Given the description of an element on the screen output the (x, y) to click on. 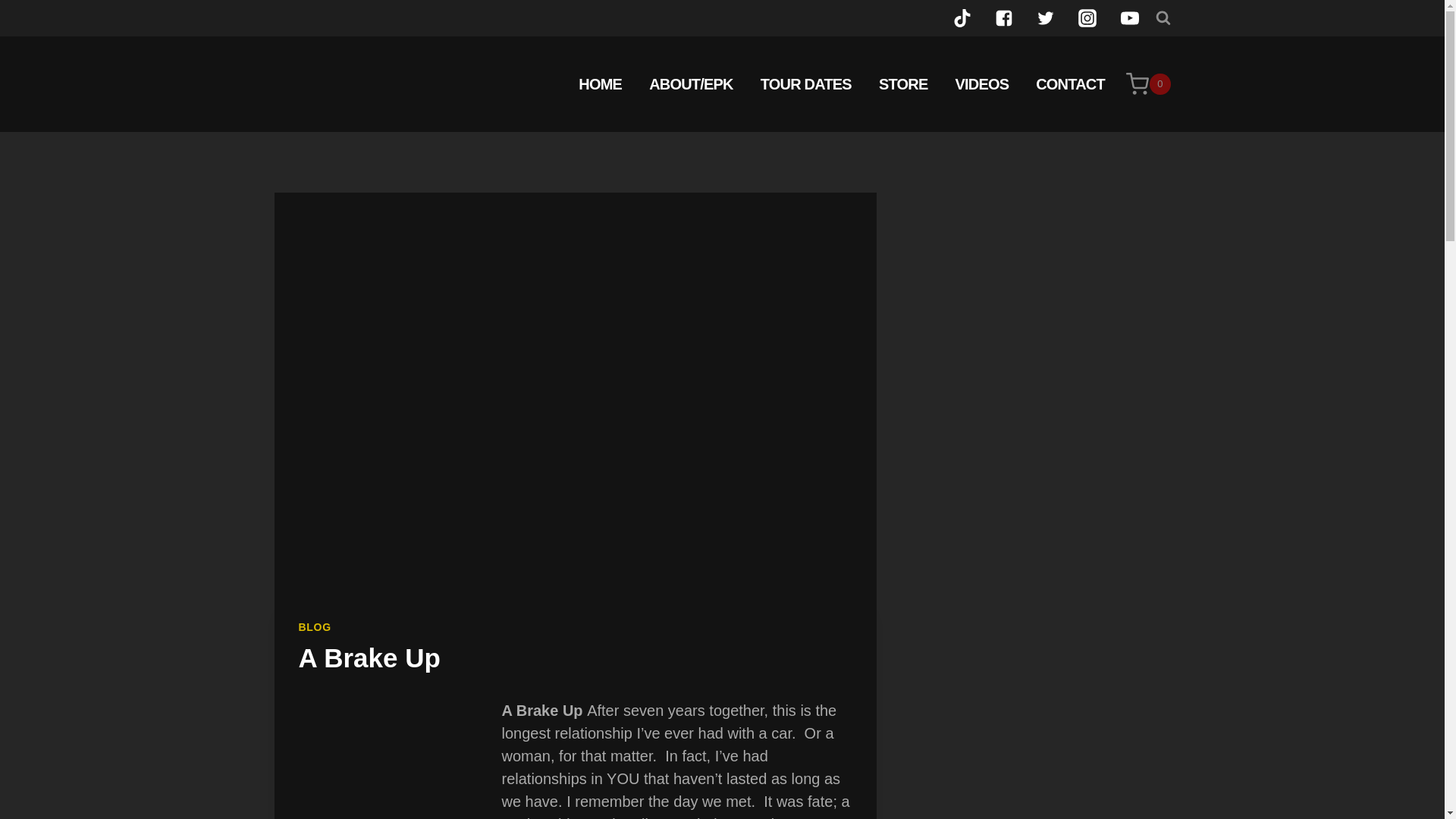
0 (1147, 83)
TOUR DATES (805, 83)
BLOG (314, 626)
STORE (903, 83)
CONTACT (1070, 83)
Eric Schwartz Live Comedian Official Homepage (599, 83)
HOME (599, 83)
VIDEOS (981, 83)
